Given the description of an element on the screen output the (x, y) to click on. 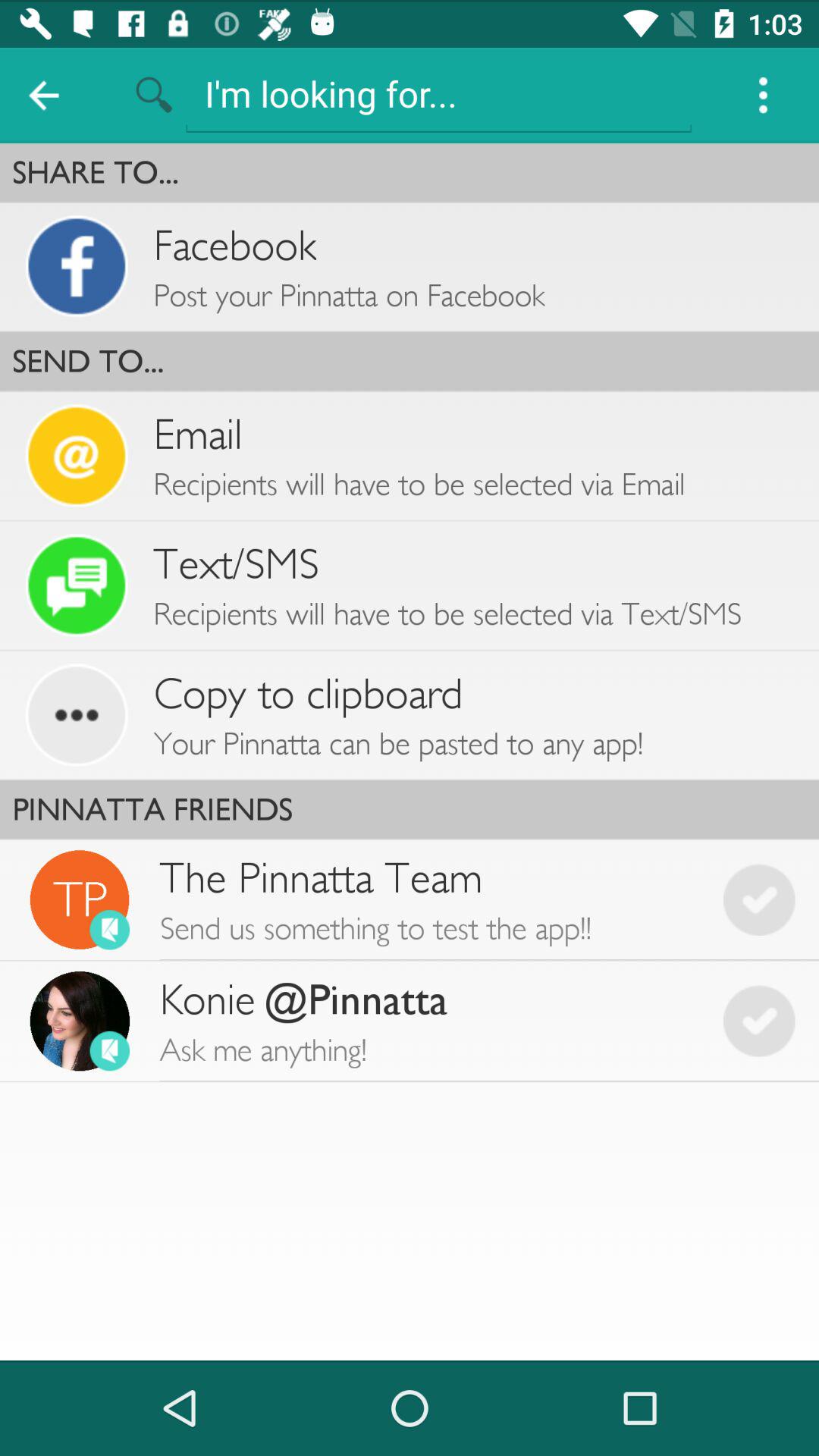
press item above the share to... item (438, 93)
